Given the description of an element on the screen output the (x, y) to click on. 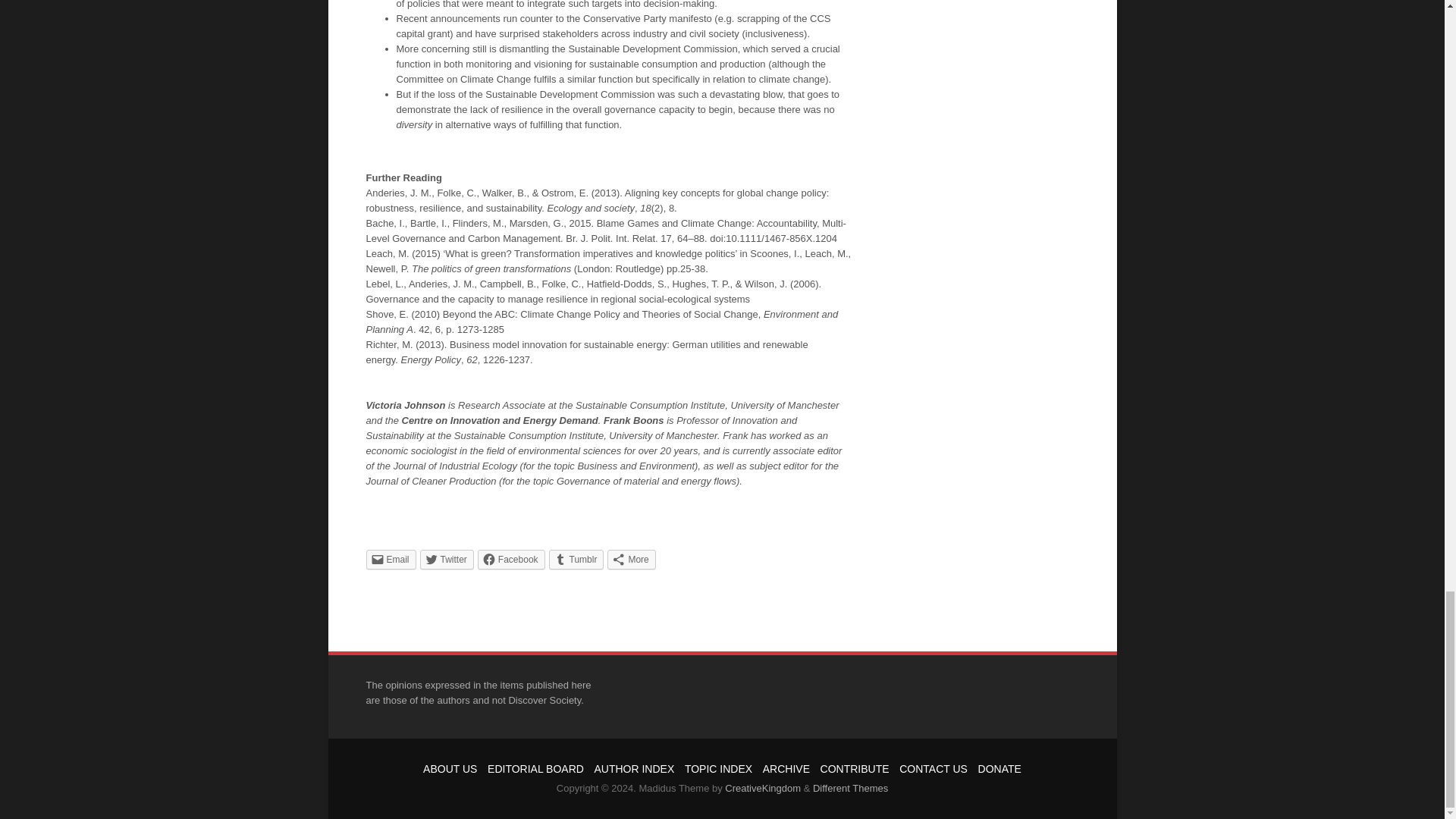
Click to email this to a friend (389, 558)
Facebook (510, 558)
Email (389, 558)
Tumblr (576, 558)
Twitter (447, 558)
Centre on Innovation and Energy Demand (499, 419)
Click to share on Tumblr (576, 558)
More (631, 558)
Victoria Johnson (405, 404)
Click to share on Facebook (510, 558)
